Given the description of an element on the screen output the (x, y) to click on. 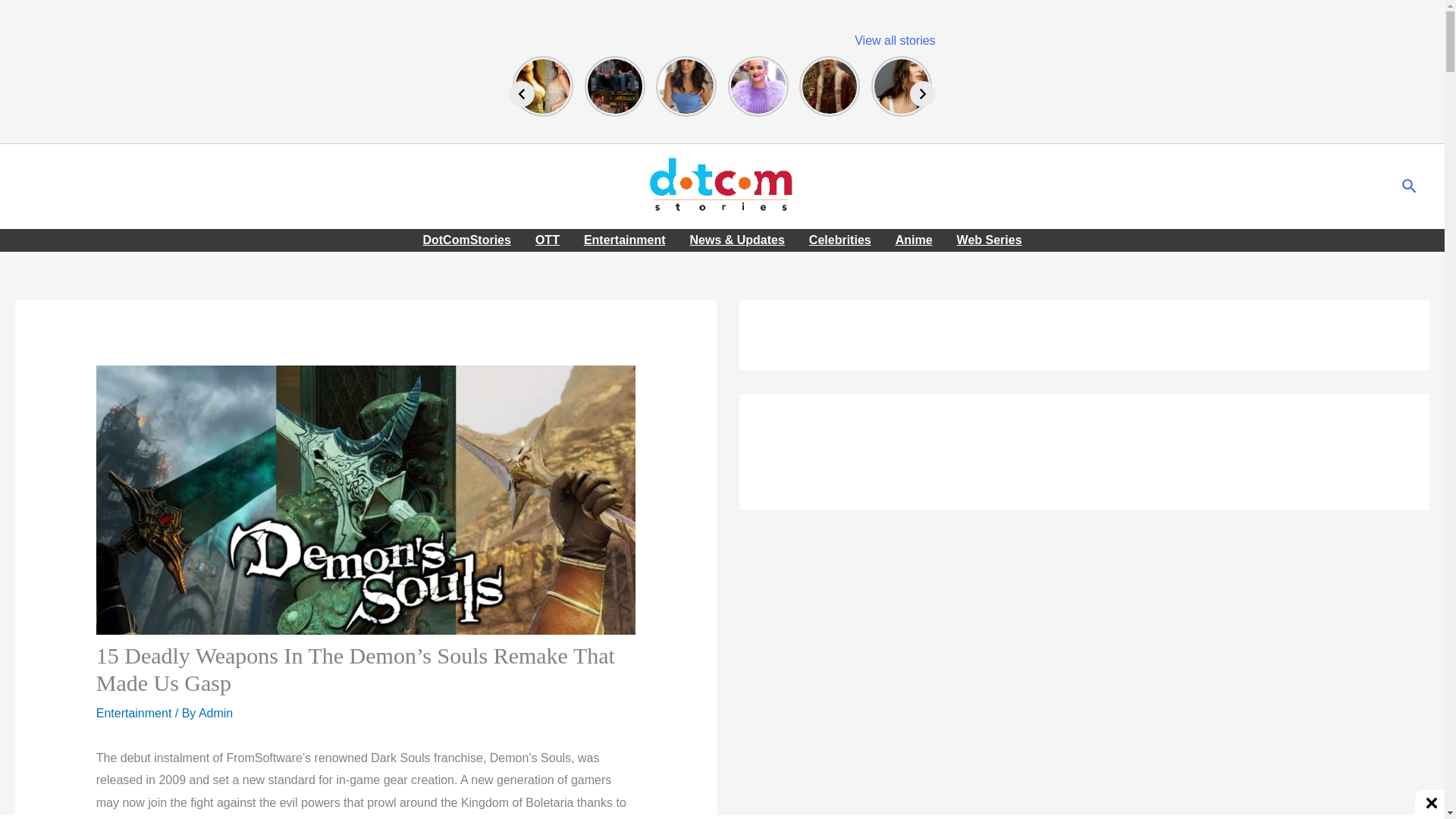
DotComStories (466, 240)
View all stories (894, 40)
Anime (913, 240)
View all posts by Admin (215, 712)
OTT (547, 240)
Admin (215, 712)
Entertainment (625, 240)
Web Series (988, 240)
Entertainment (133, 712)
Celebrities (839, 240)
